Given the description of an element on the screen output the (x, y) to click on. 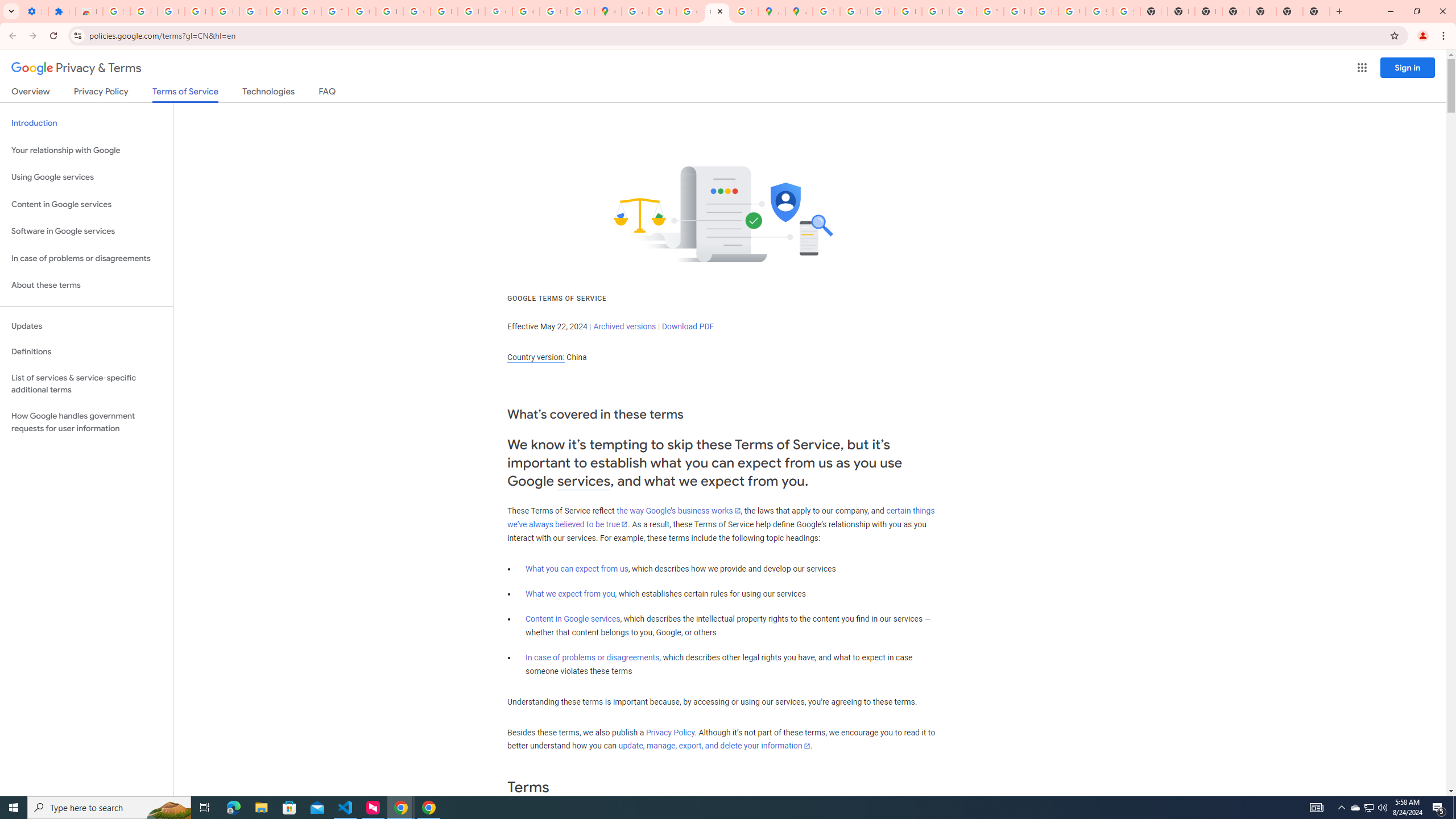
Sign in - Google Accounts (116, 11)
Privacy Help Center - Policies Help (908, 11)
Your relationship with Google (86, 150)
Content in Google services (572, 618)
Create your Google Account (690, 11)
